Given the description of an element on the screen output the (x, y) to click on. 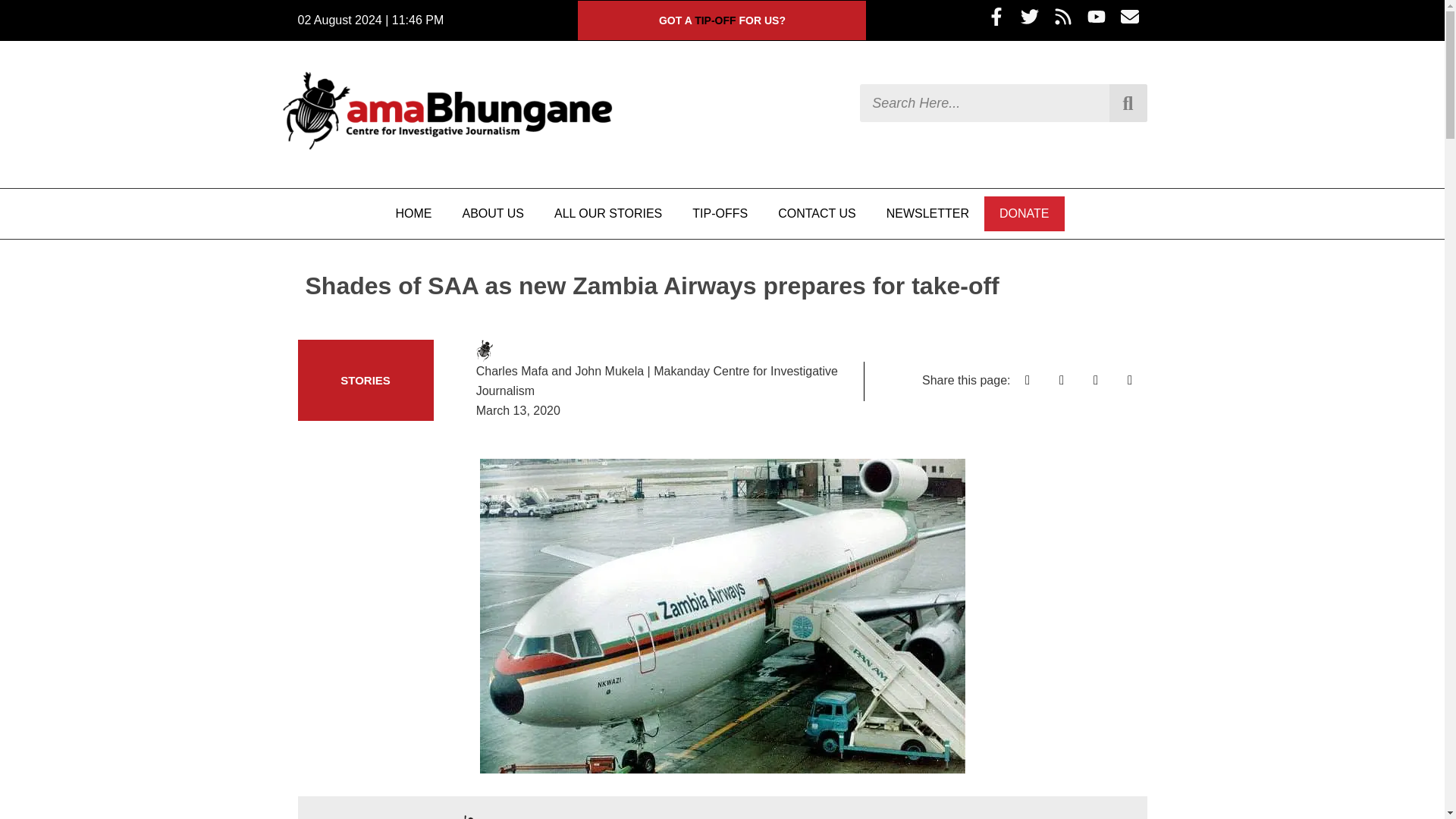
GOT A TIP-OFF FOR US? (722, 20)
ALL OUR STORIES (607, 213)
HOME (413, 213)
ABOUT US (492, 213)
